Given the description of an element on the screen output the (x, y) to click on. 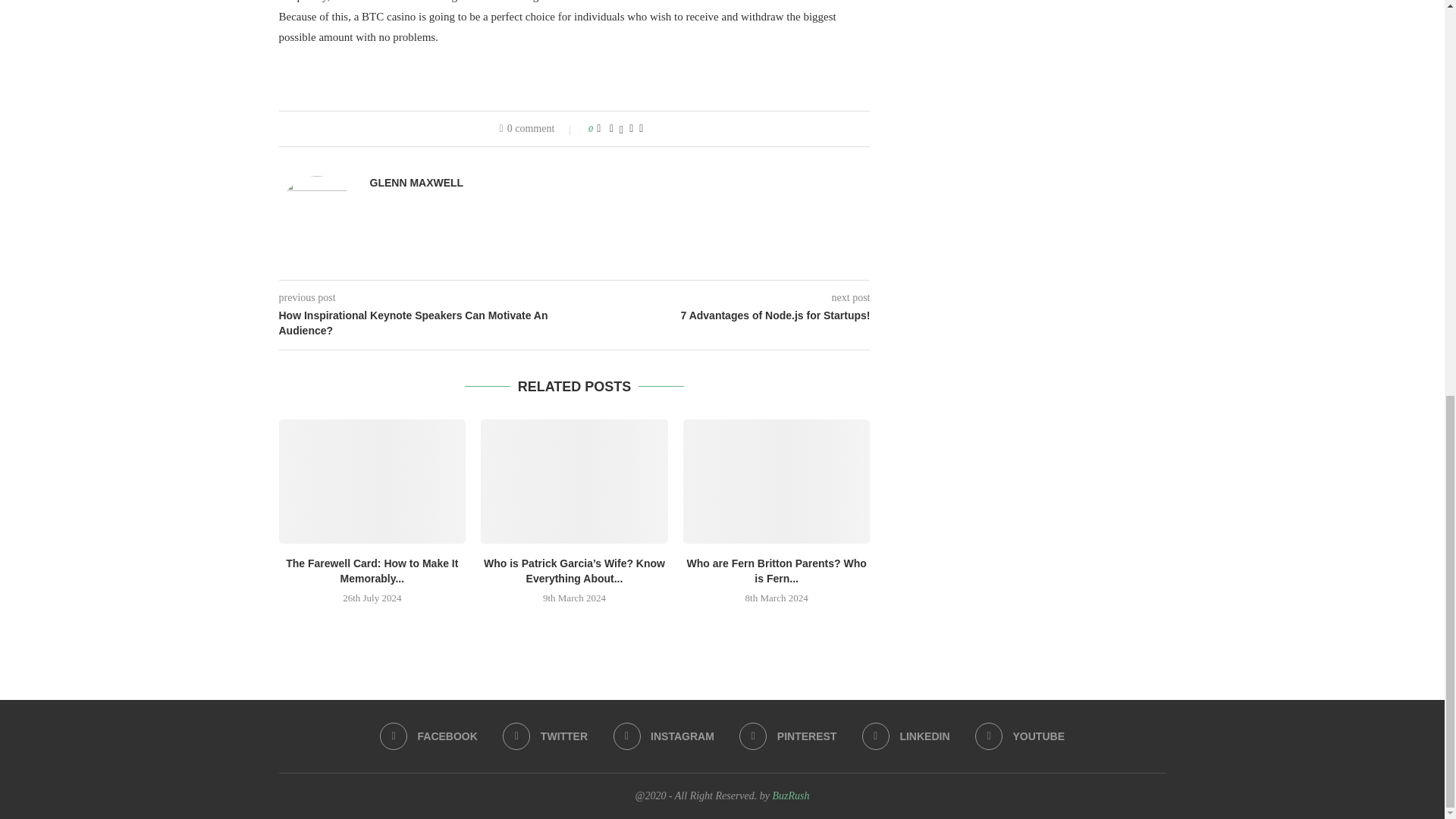
Author Glenn Maxwell (416, 183)
How Inspirational Keynote Speakers Can Motivate An Audience? (427, 323)
7 Advantages of Node.js for Startups! (722, 315)
GLENN MAXWELL (416, 183)
The Farewell Card: How to Make It Memorably... (371, 570)
The Farewell Card: How to Make It Memorably Good (372, 481)
Who are Fern Britton Parents? Who is Fern... (776, 570)
